Given the description of an element on the screen output the (x, y) to click on. 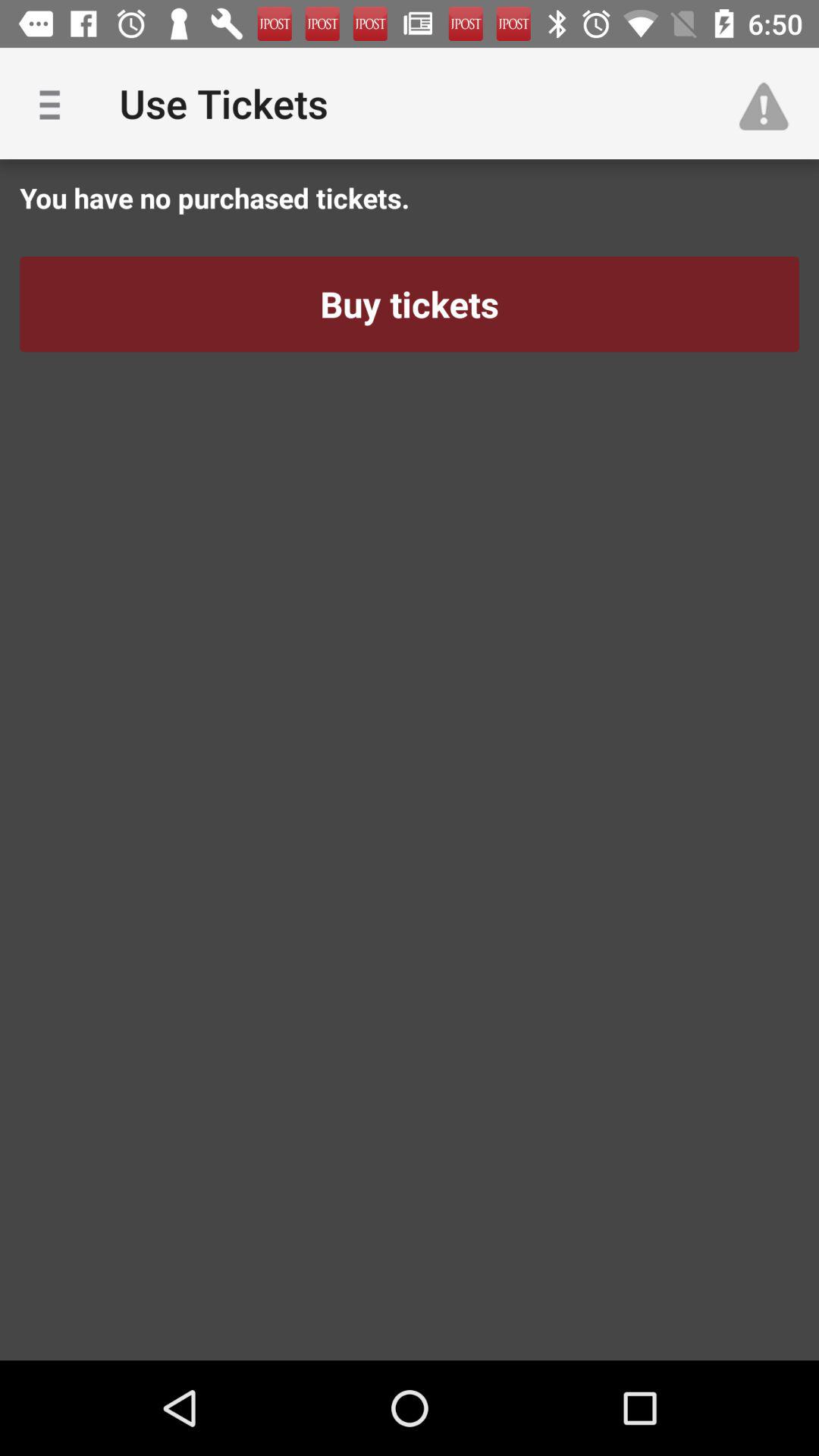
press the icon above you have no icon (55, 103)
